Given the description of an element on the screen output the (x, y) to click on. 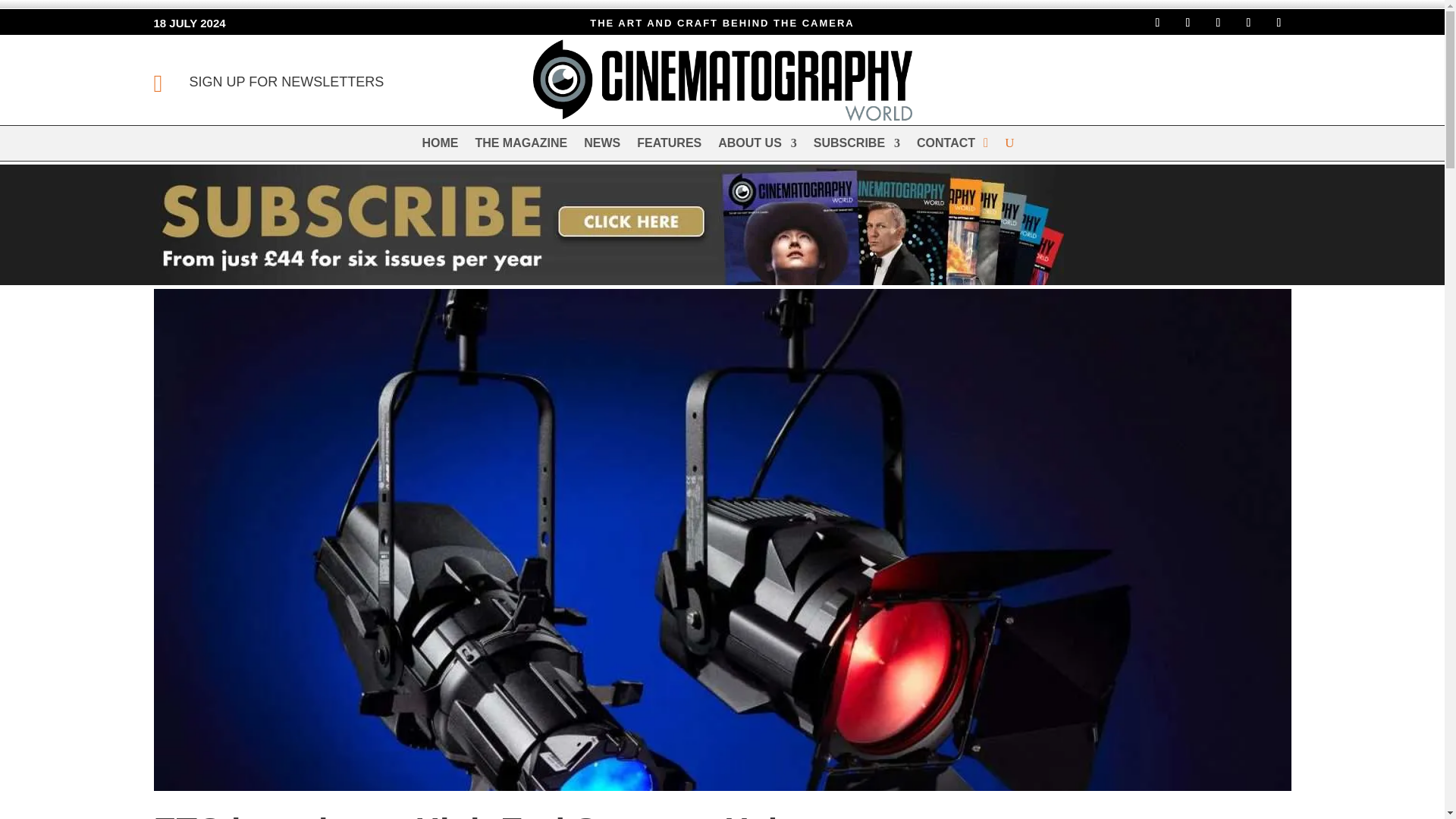
Follow on Youtube (1278, 22)
Follow on LinkedIn (1248, 22)
Follow on X (1217, 22)
FEATURES (669, 146)
CW-masthead (721, 80)
NEWS (601, 146)
SUBSCRIBE (856, 146)
Follow on Instagram (1186, 22)
CONTACT (946, 146)
Follow on Facebook (1156, 22)
BIG-HOME-SUB-AD (607, 224)
ABOUT US (756, 146)
THE MAGAZINE (520, 146)
HOME (440, 146)
